Given the description of an element on the screen output the (x, y) to click on. 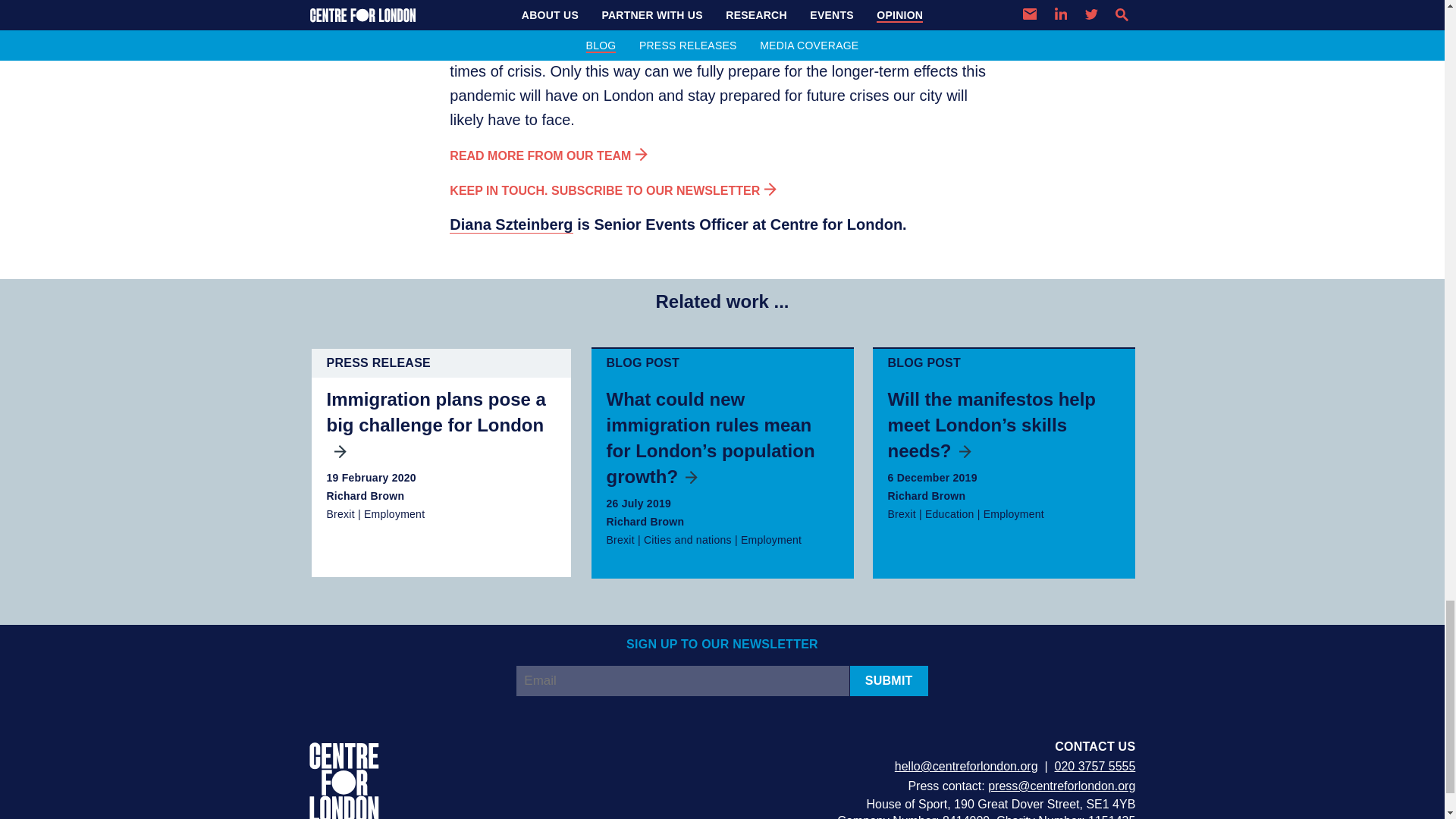
Search for content tagged as Employment (394, 513)
Search for content tagged as Brexit (339, 513)
Search for content tagged as Brexit (620, 539)
Submit (889, 680)
Search for content tagged as Employment (771, 539)
Search for content tagged as Brexit (900, 513)
Search for content tagged as Cities and nations (687, 539)
Search for content tagged as Employment (1013, 513)
Search for content tagged as Education (949, 513)
